Given the description of an element on the screen output the (x, y) to click on. 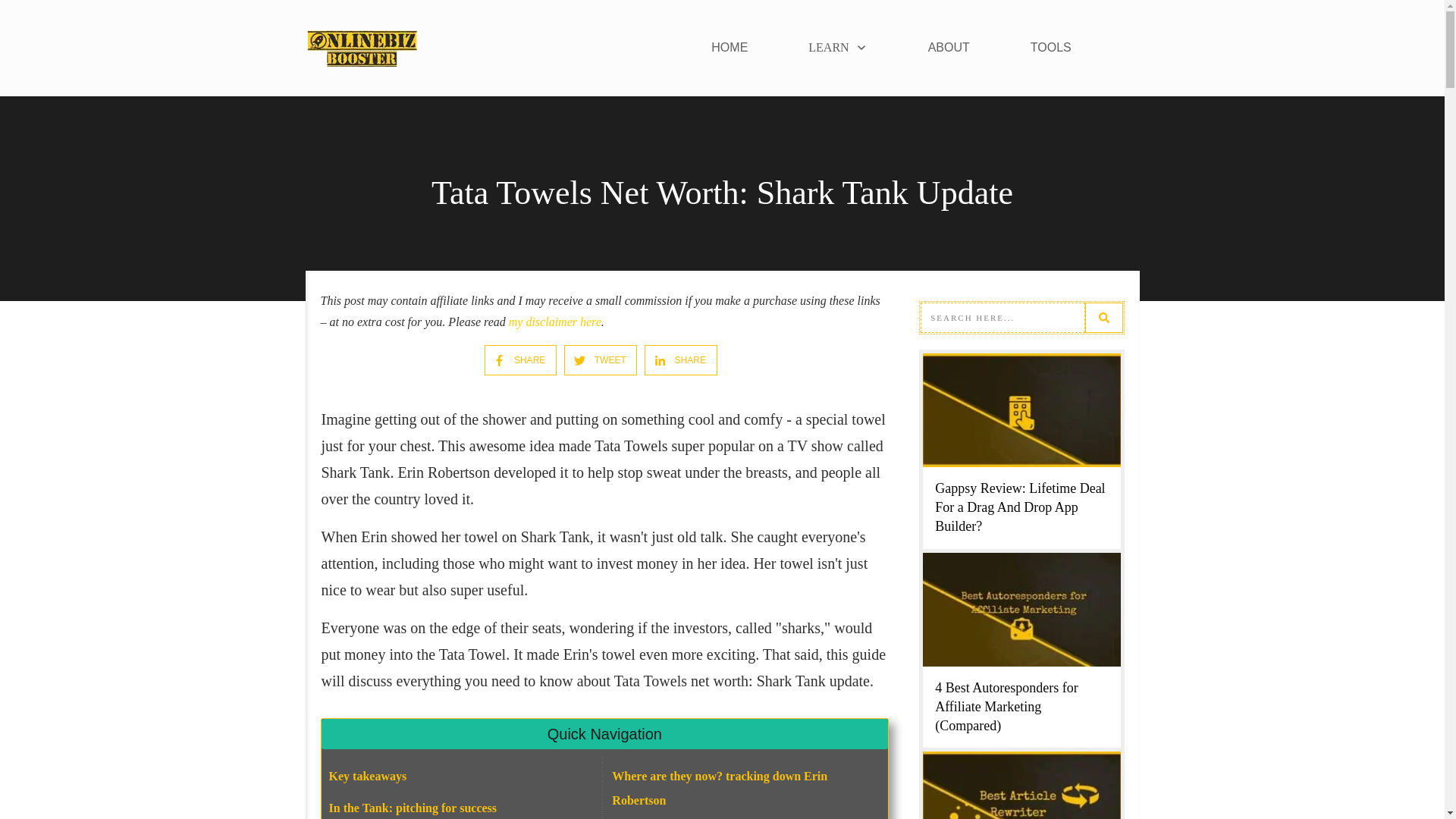
ABOUT (948, 47)
HOME (729, 47)
In the Tank: pitching for success (413, 807)
LEARN (837, 47)
Key takeaways (368, 775)
TOOLS (1050, 47)
SHARE (513, 359)
Where are they now? tracking down Erin Robertson (719, 787)
SHARE (674, 359)
TWEET (593, 359)
my disclaimer here (554, 321)
